Given the description of an element on the screen output the (x, y) to click on. 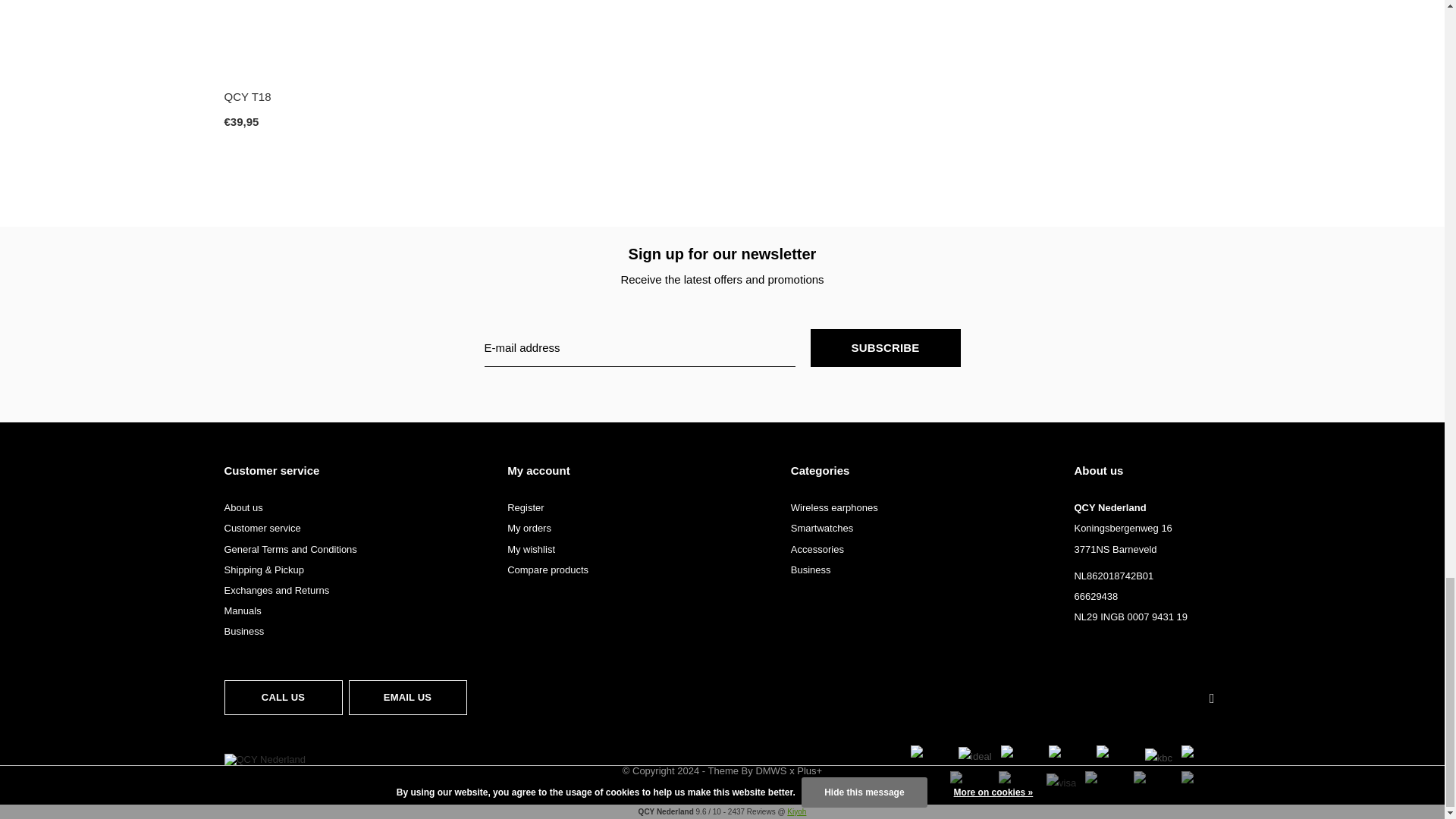
My orders (528, 527)
My wishlist (530, 549)
Register (524, 507)
